Given the description of an element on the screen output the (x, y) to click on. 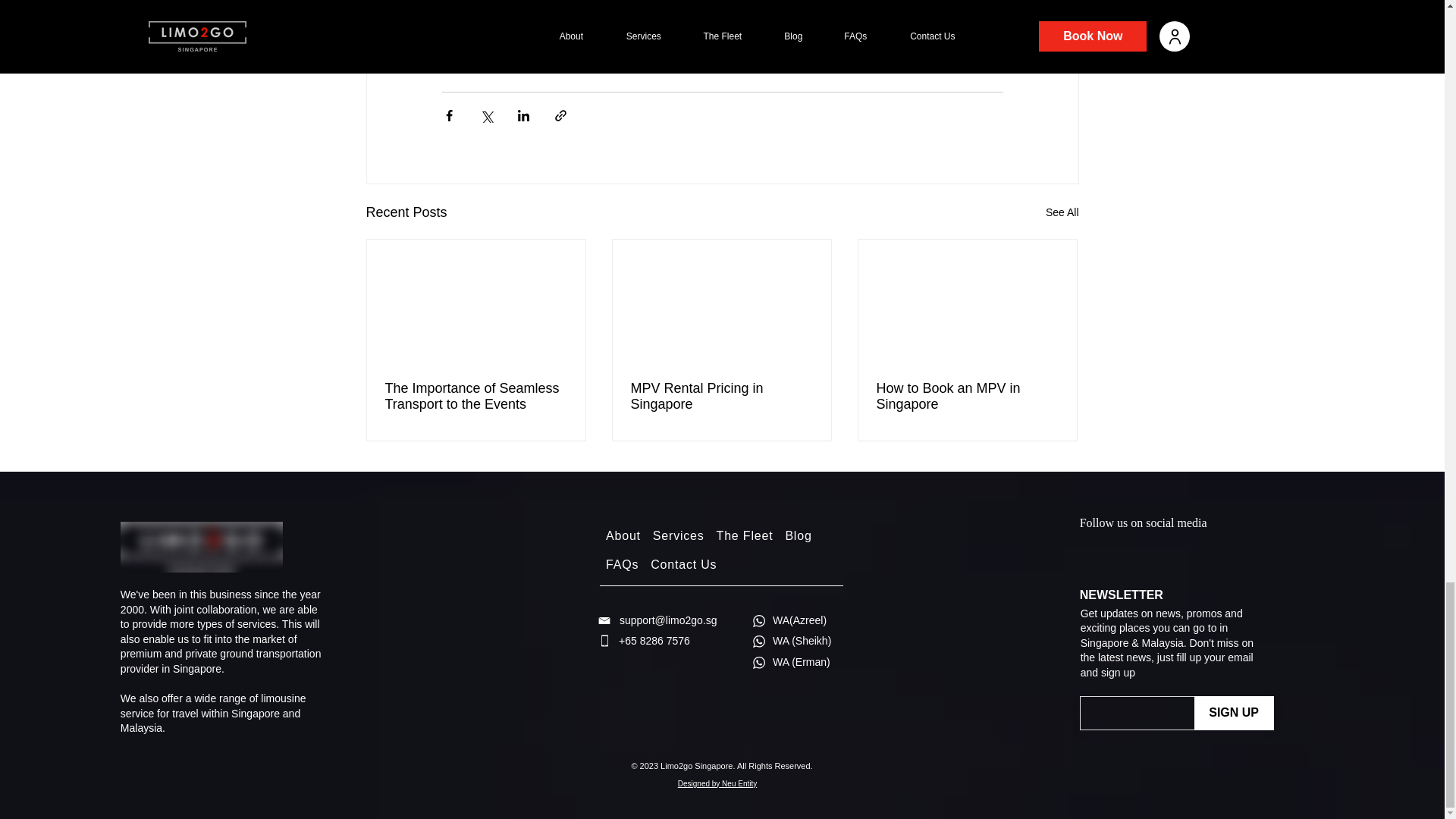
About (622, 535)
Blog (797, 535)
The Fleet (744, 535)
See All (1061, 212)
Services (678, 535)
How to Book an MPV in Singapore (967, 396)
FAQs (622, 564)
The Importance of Seamless Transport to the Events (476, 396)
MPV Rental Pricing in Singapore (721, 396)
Contact Us (683, 564)
